Given the description of an element on the screen output the (x, y) to click on. 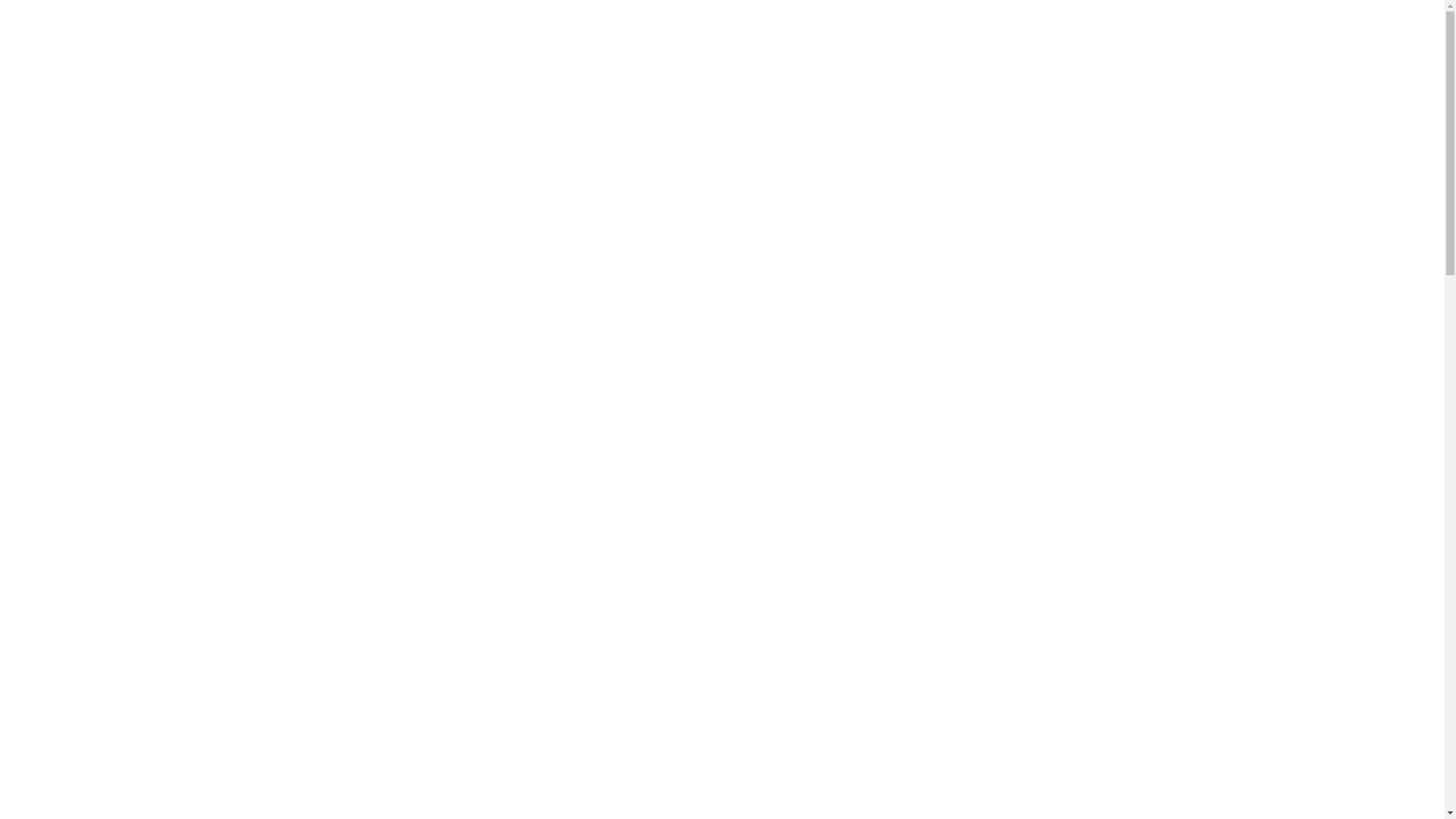
Search Element type: text (1338, 14)
Search for: Element type: text (1240, 18)
FREE AUS SHIPPING ON ORDERS OVER $100! Element type: text (843, 19)
Home Element type: text (328, 136)
0 Items Element type: text (1397, 15)
Account Element type: text (1212, 54)
Read more Element type: text (406, 570)
Store Element type: text (1100, 54)
Home Element type: text (1039, 54)
FAQ Element type: text (1155, 54)
Contact Us / Find Us Element type: text (1316, 54)
Read more Element type: text (406, 277)
AUSSIE OWNED & OPERATED Element type: text (1034, 19)
Cart Element type: text (1408, 54)
